Given the description of an element on the screen output the (x, y) to click on. 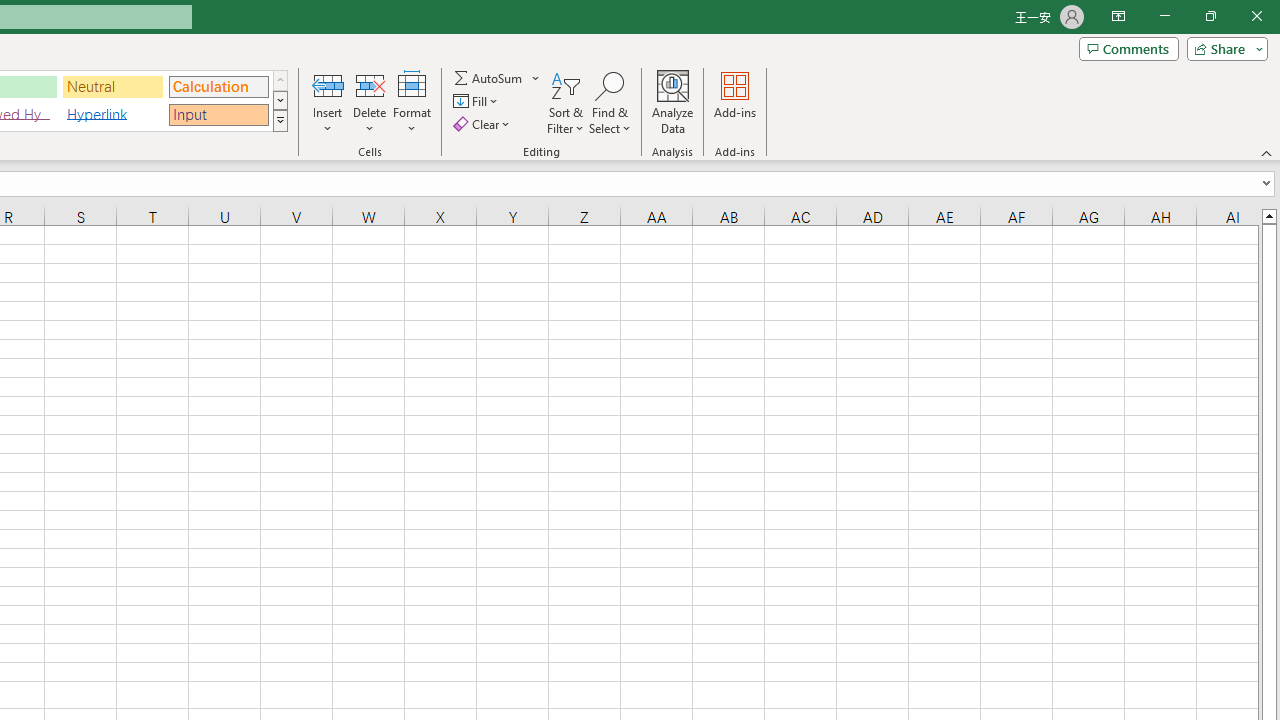
Collapse the Ribbon (1267, 152)
Row Down (280, 100)
Sum (489, 78)
Close (1256, 16)
Calculation (218, 86)
Sort & Filter (566, 102)
Hyperlink (113, 114)
Insert Cells (328, 84)
Find & Select (610, 102)
Clear (483, 124)
Minimize (1164, 16)
Analyze Data (673, 102)
Delete (369, 102)
Comments (1128, 48)
